Given the description of an element on the screen output the (x, y) to click on. 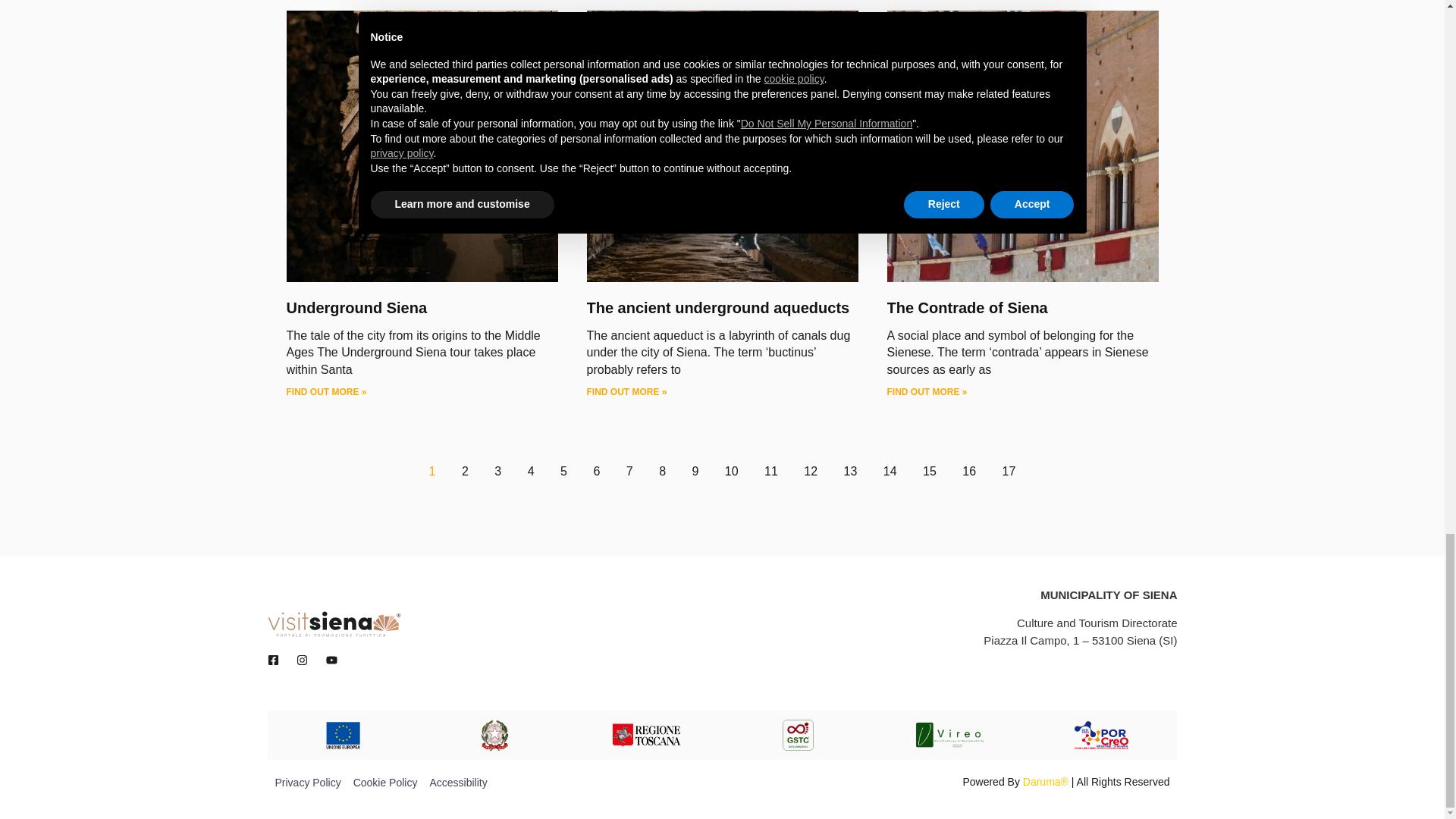
10 (731, 471)
The Contrade of Siena (967, 307)
12 (809, 471)
The ancient underground aqueducts (718, 307)
Underground Siena (357, 307)
11 (770, 471)
